Given the description of an element on the screen output the (x, y) to click on. 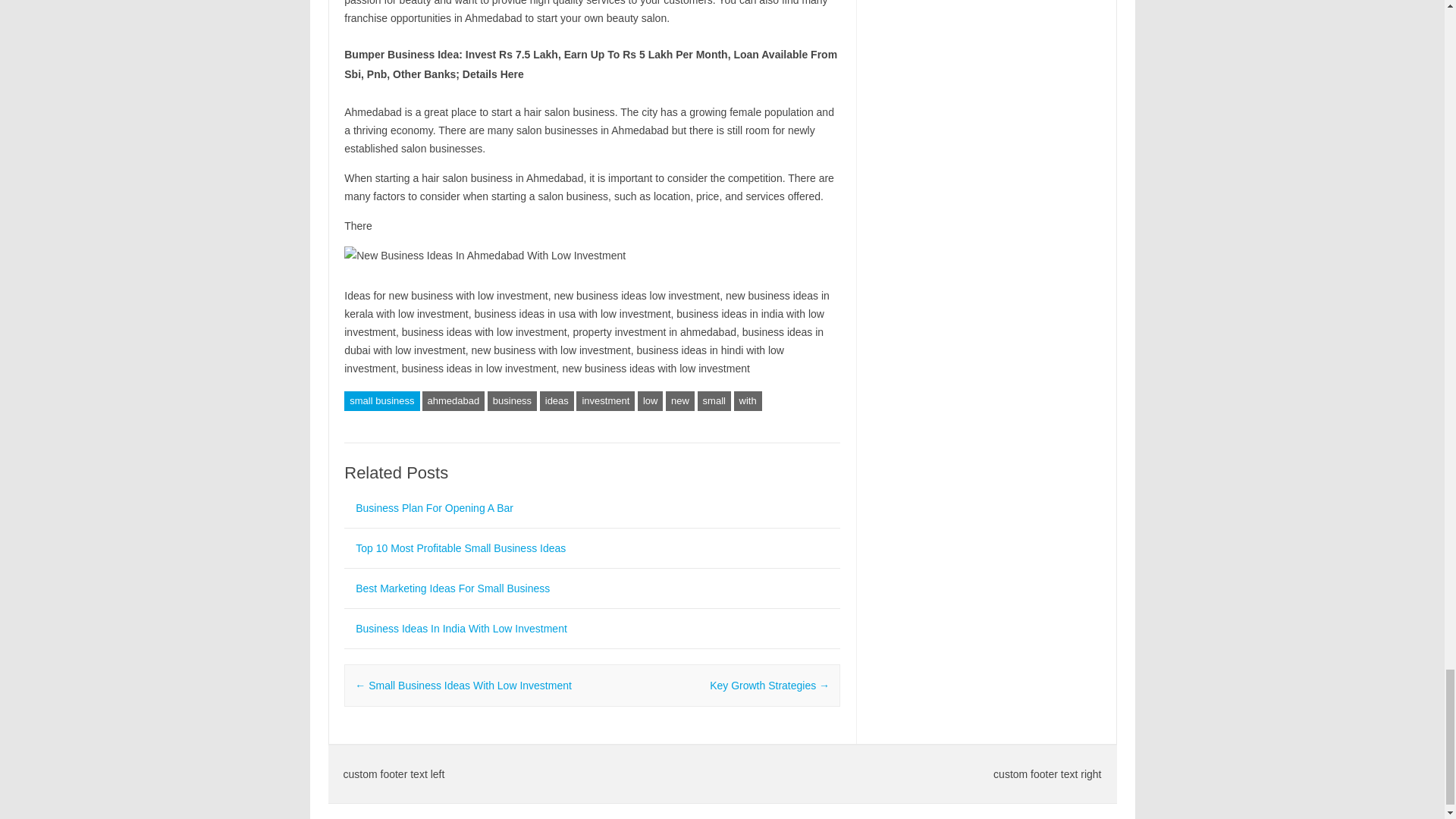
business (512, 401)
ahmedabad (453, 401)
small (713, 401)
investment (605, 401)
new (679, 401)
ideas (556, 401)
low (650, 401)
with (747, 401)
small business (381, 401)
